Given the description of an element on the screen output the (x, y) to click on. 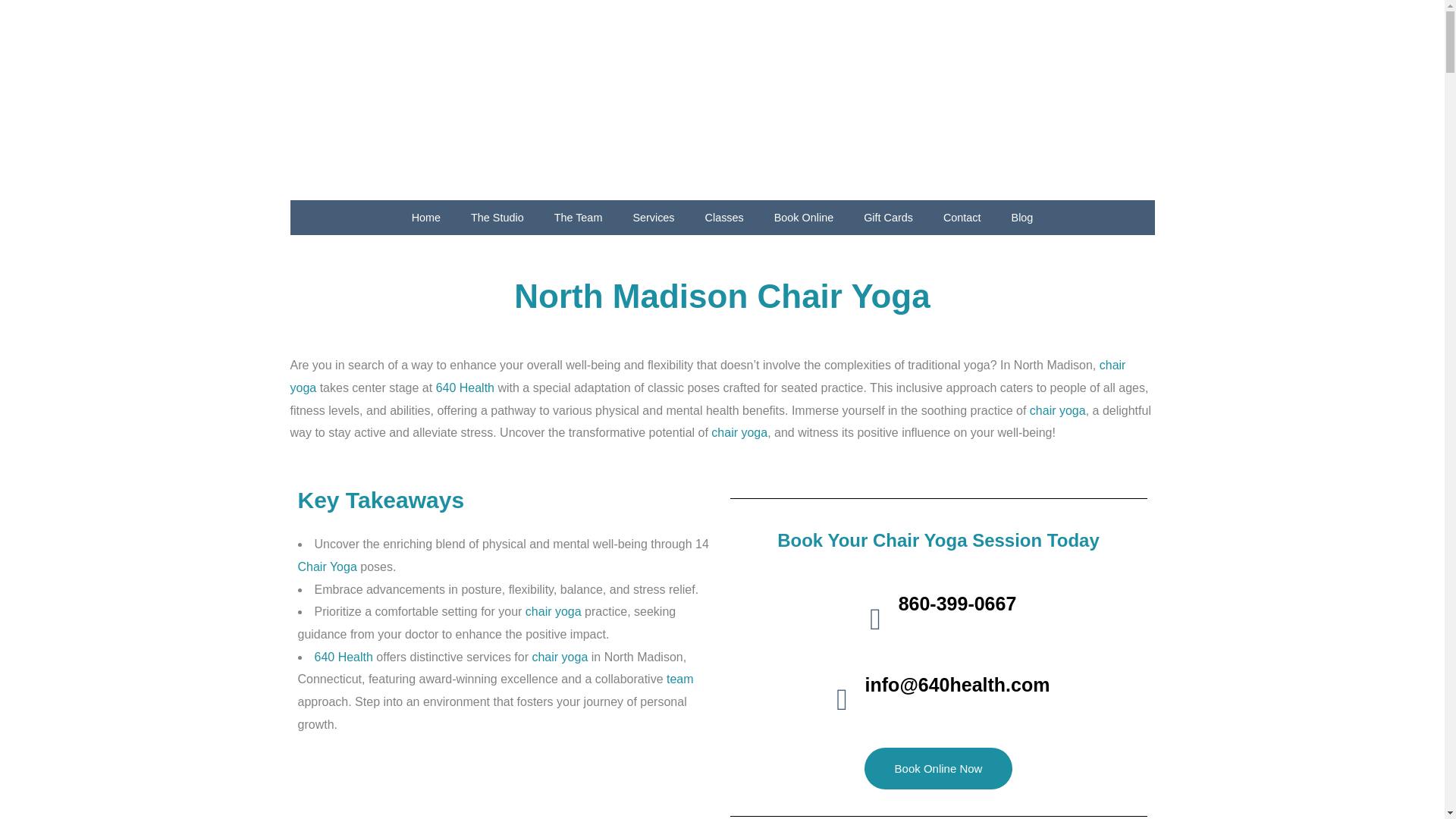
Blog (1021, 217)
Services (652, 217)
The Studio (496, 217)
Gift Cards (888, 217)
The Team (577, 217)
Contact (961, 217)
Classes (724, 217)
Book Online (803, 217)
Health Therapies (465, 387)
Health Therapies (343, 656)
